Given the description of an element on the screen output the (x, y) to click on. 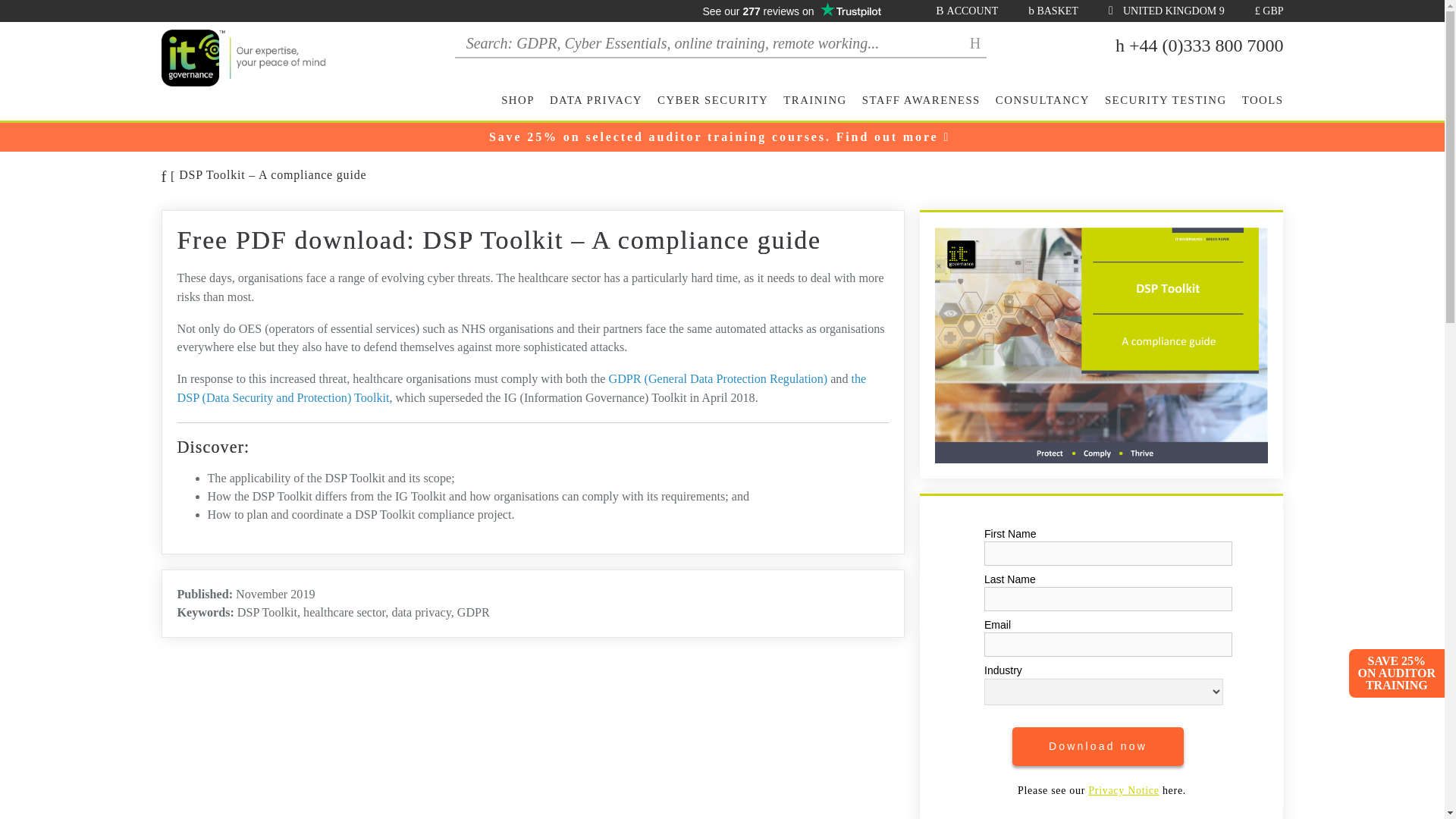
Customer reviews powered by Trustpilot (791, 10)
IT Governance phone number (1199, 45)
SHOP (517, 107)
BASKET (1052, 10)
